Given the description of an element on the screen output the (x, y) to click on. 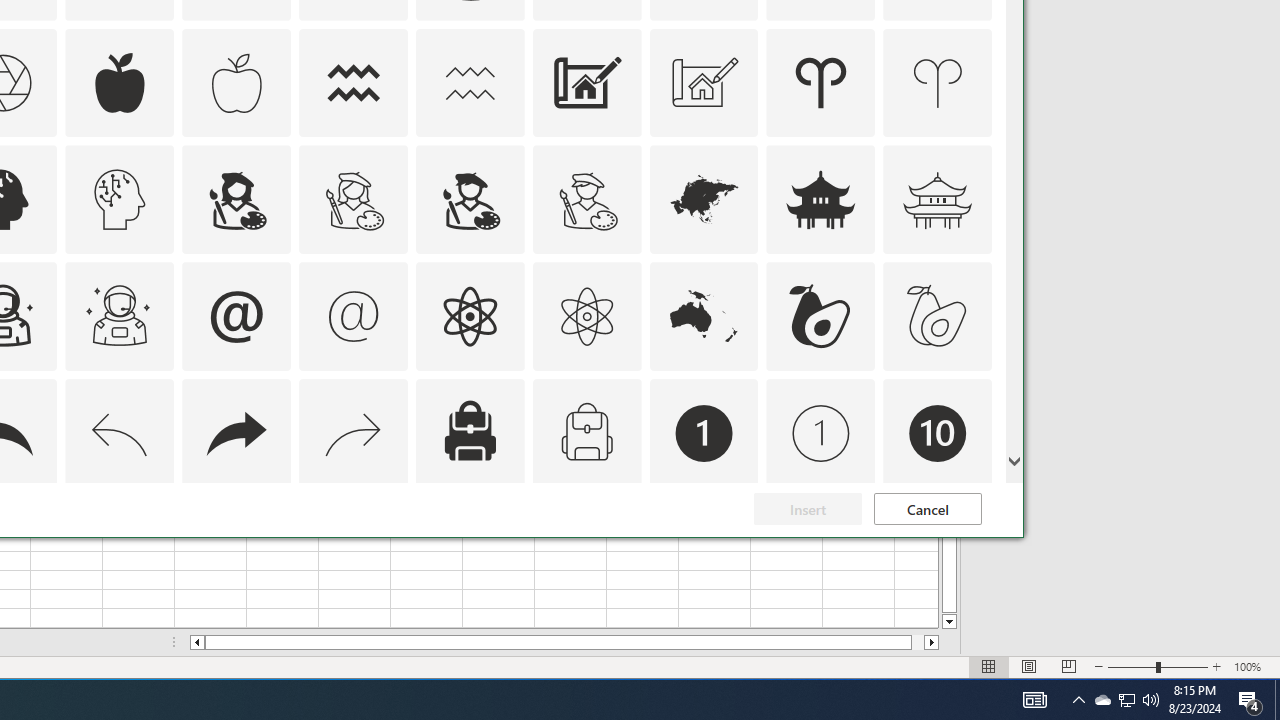
AutomationID: Icons_Badge9 (820, 550)
AutomationID: Icons_Badge8_M (703, 550)
AutomationID: Icons_At (236, 316)
AutomationID: Icons_Backpack (469, 434)
AutomationID: Icons_At_M (353, 316)
AutomationID: Icons_Badge9_M (938, 550)
AutomationID: Icons_Avocado_M (938, 316)
AutomationID: Icons_Aquarius (353, 82)
